Given the description of an element on the screen output the (x, y) to click on. 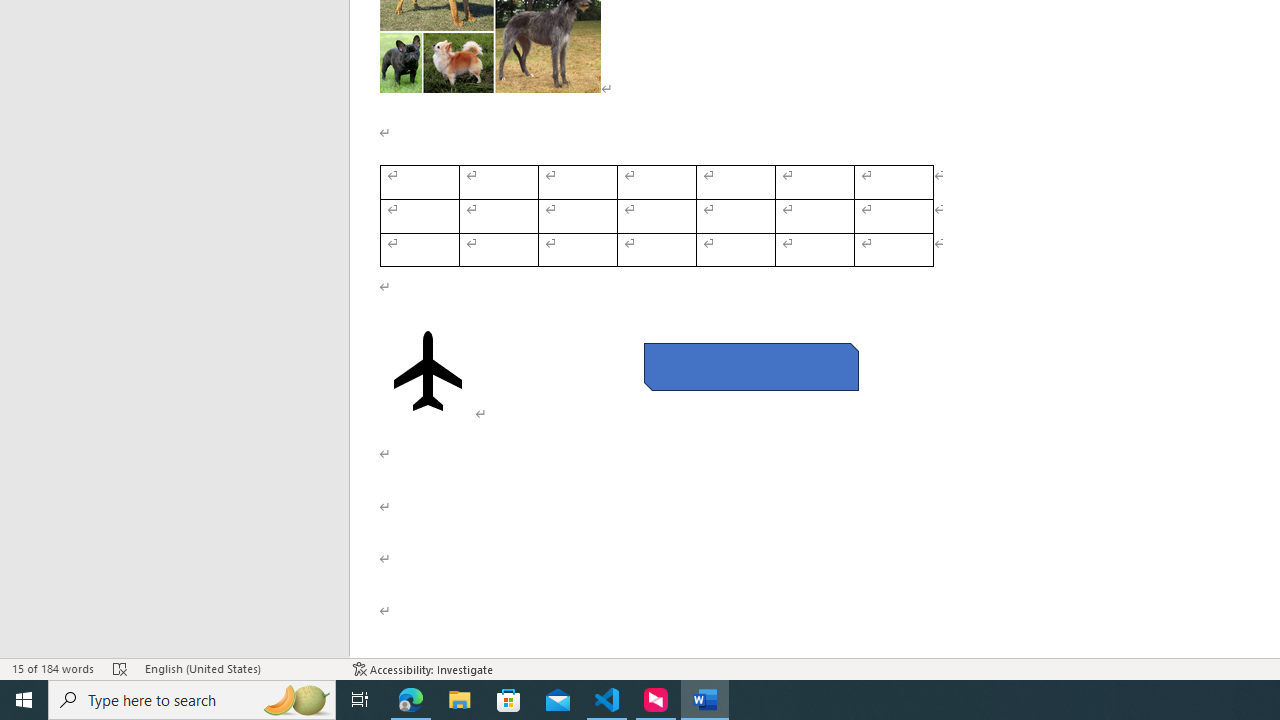
Airplane with solid fill (428, 371)
Spelling and Grammar Check Errors (120, 668)
Rectangle: Diagonal Corners Snipped 2 (750, 366)
Word Count 15 of 184 words (52, 668)
